Given the description of an element on the screen output the (x, y) to click on. 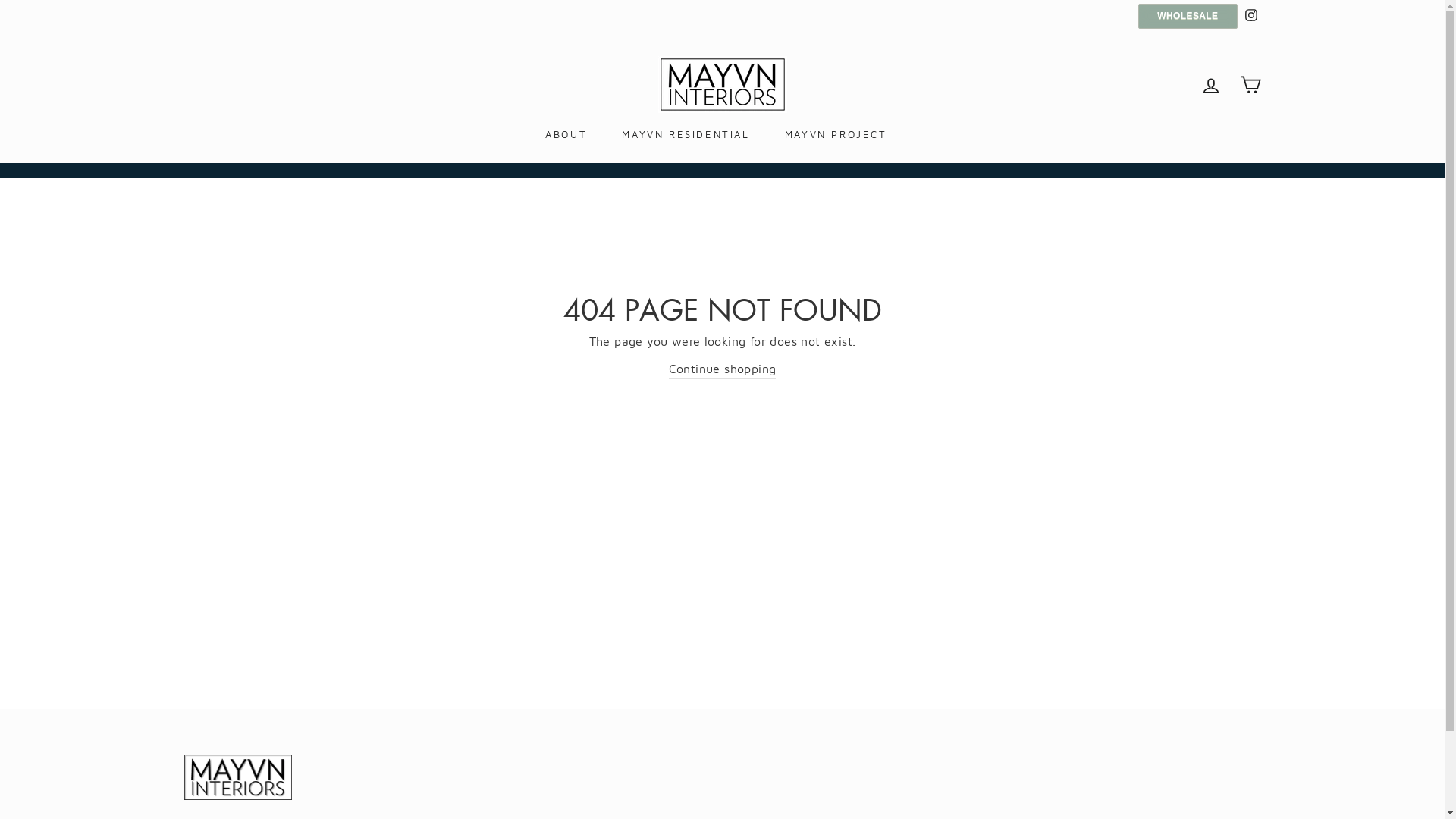
WHOLESALE Element type: text (1187, 15)
Skip to content Element type: text (0, 0)
Instagram Element type: text (1250, 16)
Continue shopping Element type: text (722, 369)
LOG IN Element type: text (1210, 84)
CART Element type: text (1249, 84)
